Given the description of an element on the screen output the (x, y) to click on. 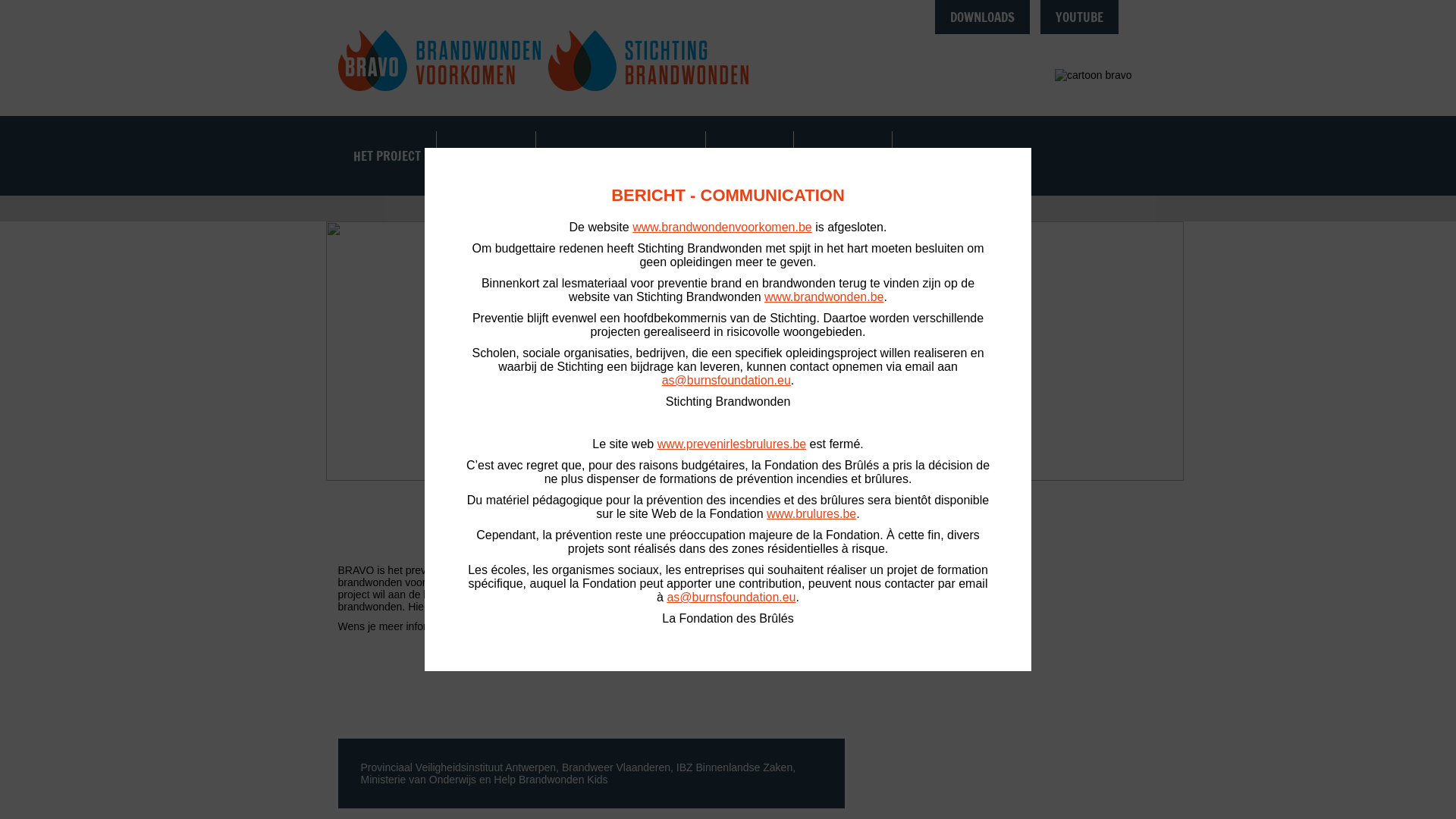
STICHTING BRANDWONDEN Element type: text (619, 155)
HET PROJECT Element type: text (387, 155)
YOUTUBE Element type: text (1079, 17)
DOWNLOADS Element type: text (982, 17)
FOTOGALERIJ Element type: text (842, 155)
OPLEIDINGEN Element type: text (485, 155)
CONTACT Element type: text (930, 155)
www.prevenirlesbrulures.be Element type: text (731, 443)
www.brulures.be Element type: text (811, 513)
www.brandwonden.be Element type: text (823, 296)
www.brandwondenvoorkomen.be Element type: text (722, 226)
as@burnsfoundation.eu Element type: text (726, 379)
as@burnsfoundation.eu Element type: text (730, 596)
PREVENTIE Element type: text (748, 155)
